Given the description of an element on the screen output the (x, y) to click on. 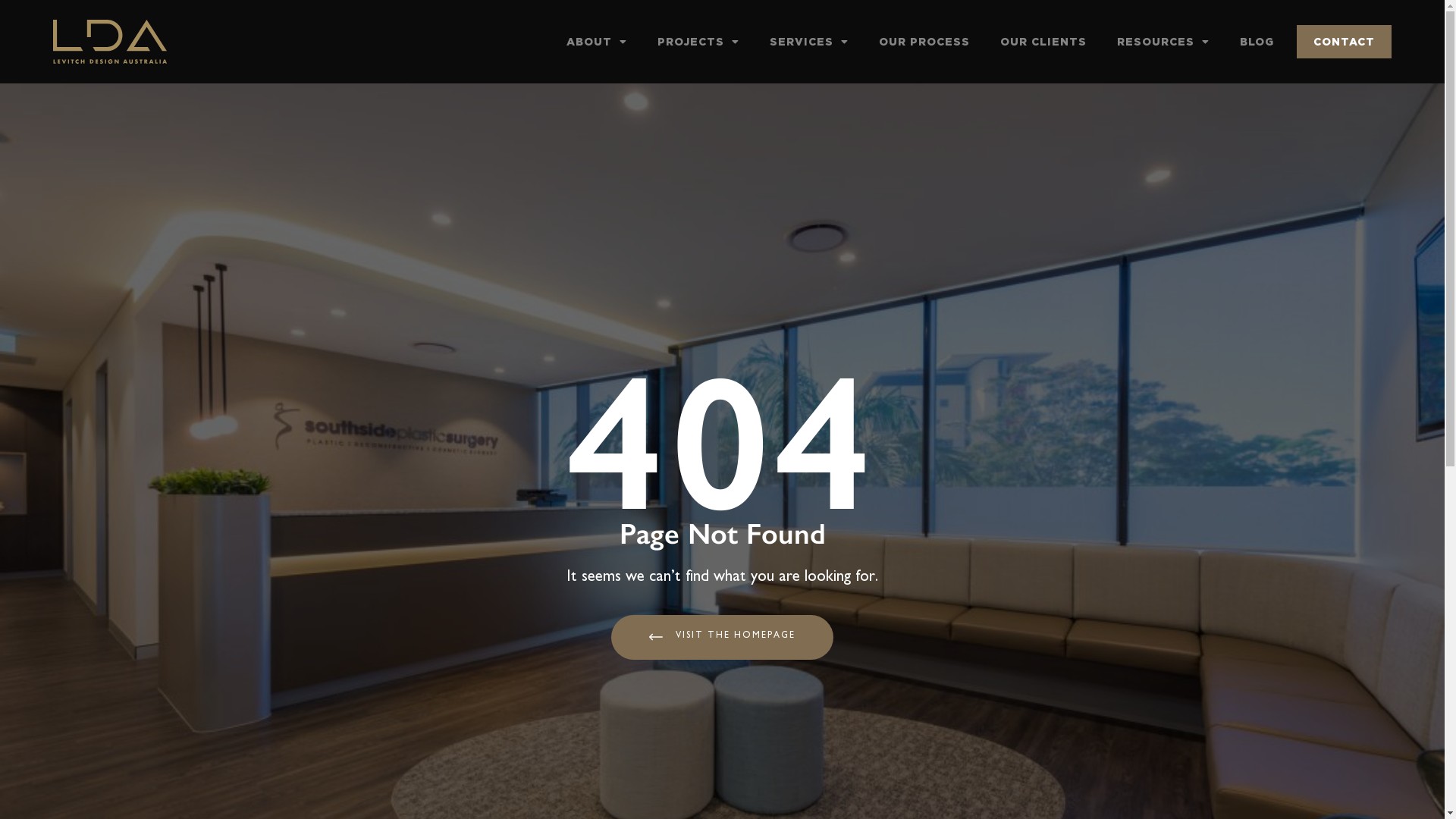
CONTACT Element type: text (1343, 41)
RESOURCES Element type: text (1163, 41)
VISIT THE HOMEPAGE Element type: text (722, 637)
BLOG Element type: text (1256, 41)
OUR PROCESS Element type: text (923, 41)
PROJECTS Element type: text (698, 41)
OUR CLIENTS Element type: text (1043, 41)
SERVICES Element type: text (808, 41)
ABOUT Element type: text (596, 41)
